Given the description of an element on the screen output the (x, y) to click on. 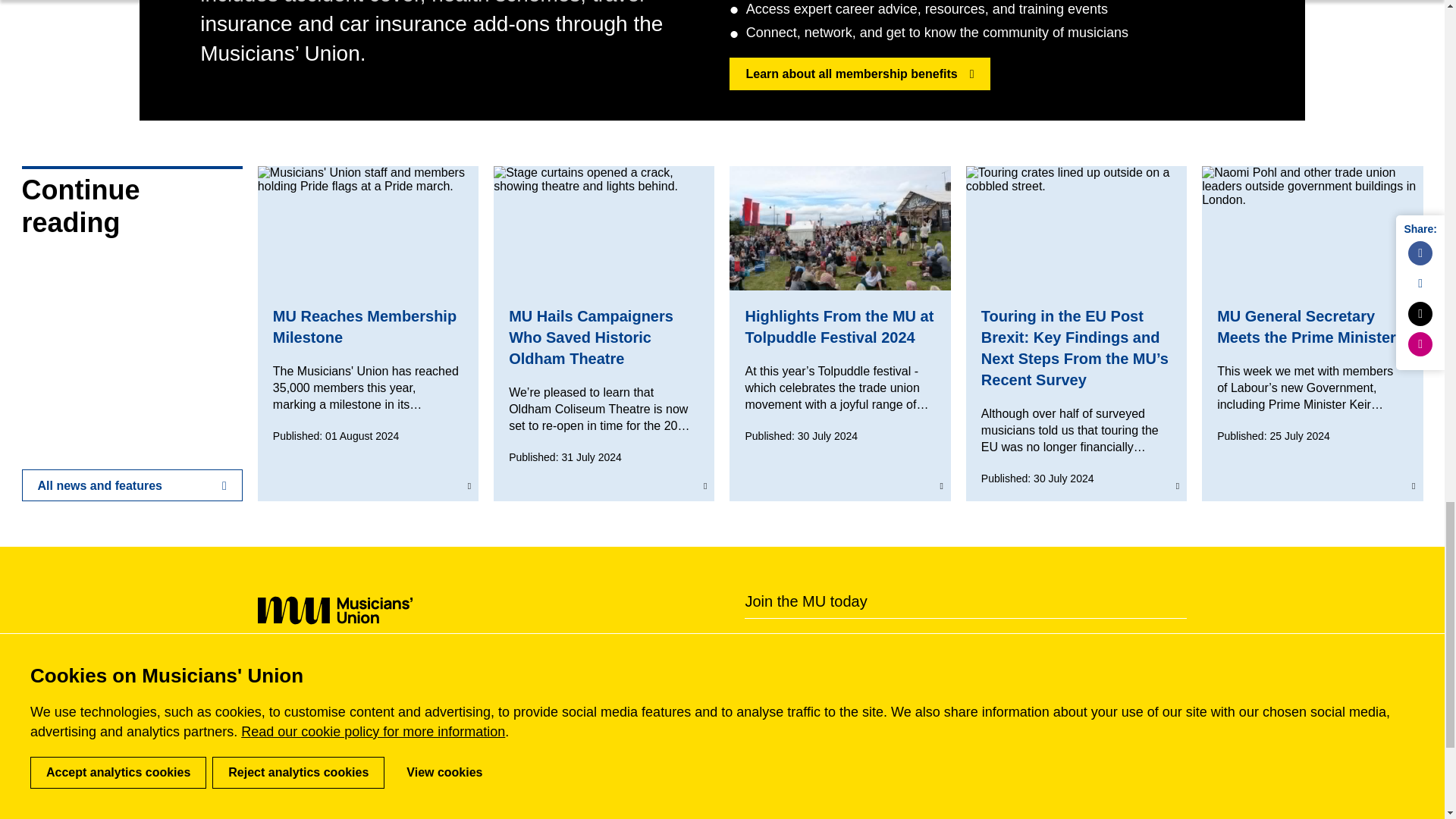
YouTube (528, 658)
TikTok (564, 658)
Instagram (455, 658)
Spotify (491, 658)
Facebook (346, 658)
LinkedIn (382, 658)
X (418, 658)
